Given the description of an element on the screen output the (x, y) to click on. 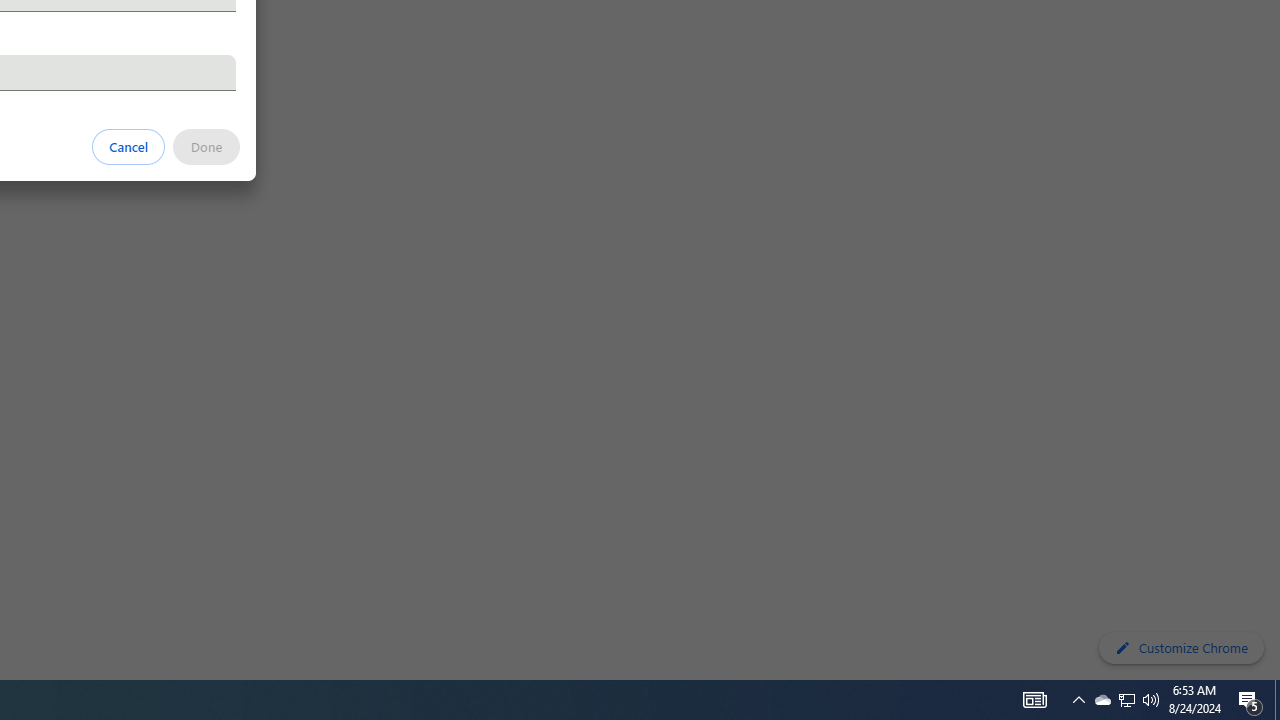
Cancel (129, 146)
Done (206, 146)
